Given the description of an element on the screen output the (x, y) to click on. 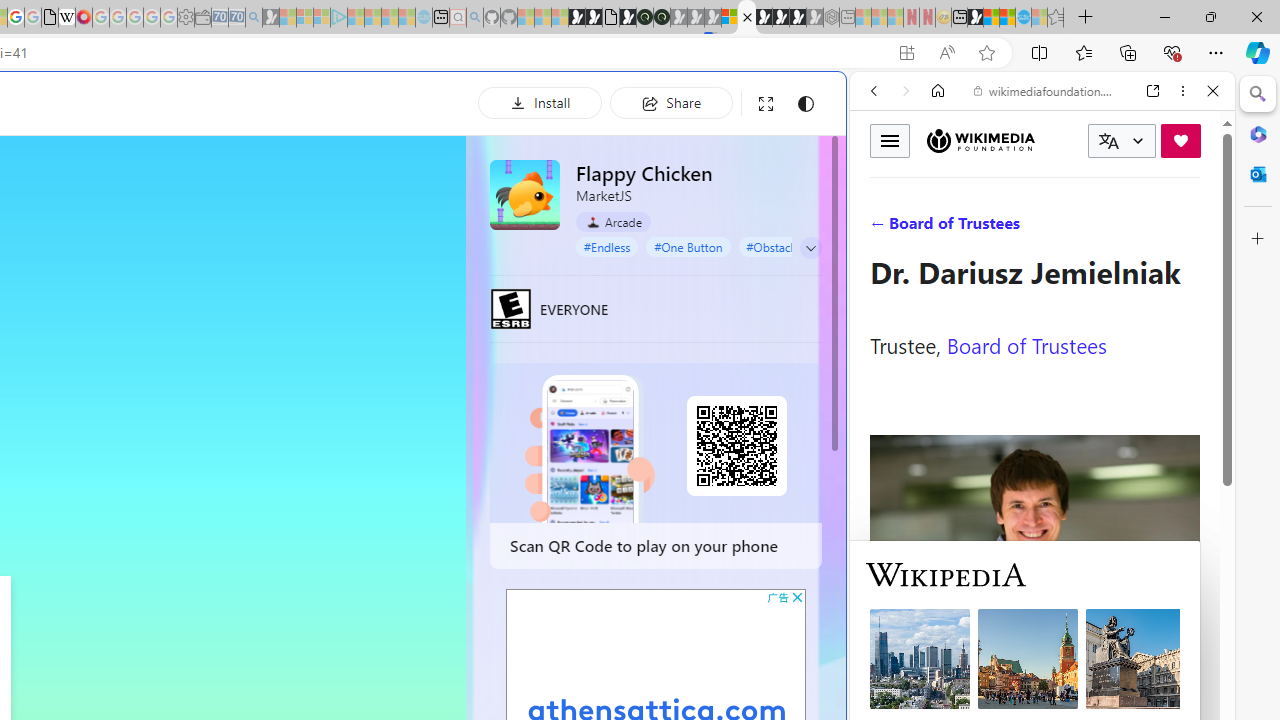
Frequently visited (418, 265)
Favorites - Sleeping (1055, 17)
Board of Trustees (1026, 344)
Donate now (1180, 140)
Sign in to your account (729, 17)
